Given the description of an element on the screen output the (x, y) to click on. 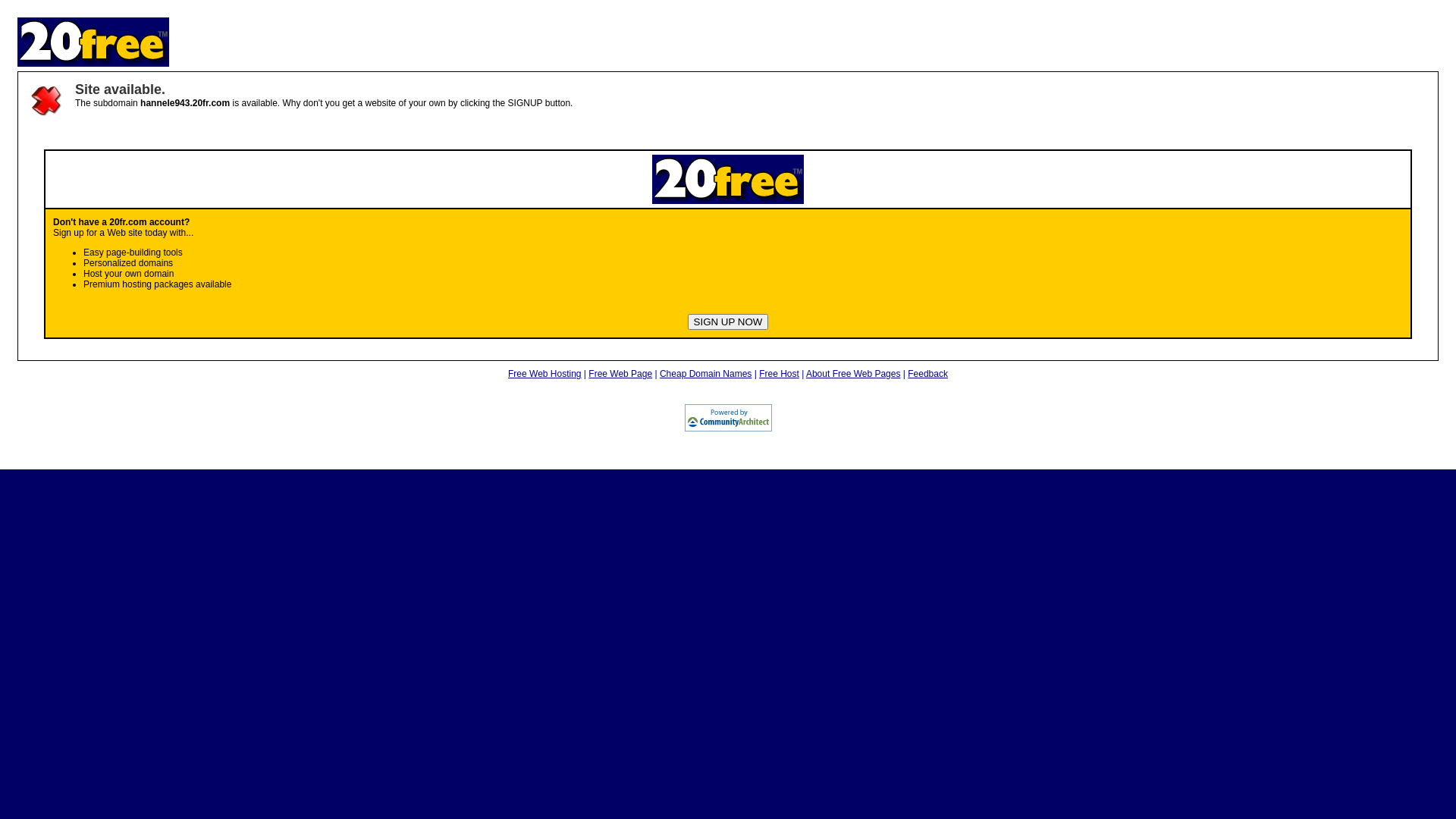
Free Web Page Element type: text (620, 373)
About Free Web Pages Element type: text (853, 373)
Free Host Element type: text (779, 373)
Feedback Element type: text (927, 373)
SIGN UP NOW Element type: text (727, 321)
Free Web Hosting Element type: text (544, 373)
Cheap Domain Names Element type: text (705, 373)
